Given the description of an element on the screen output the (x, y) to click on. 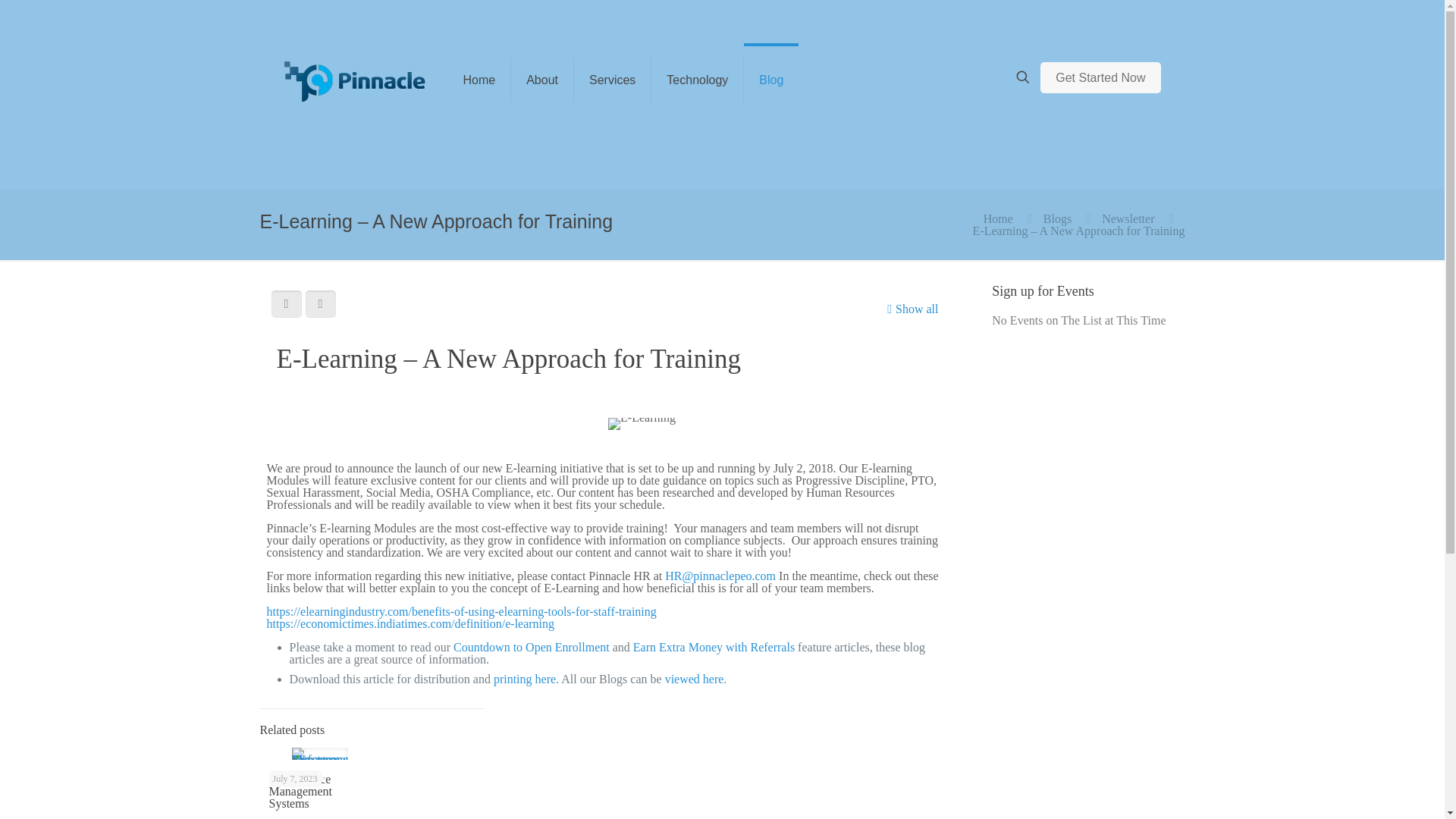
Get Started Now (1100, 77)
Blogs (1057, 218)
Home (478, 79)
Countdown to Open Enrollment (531, 646)
Newsletter (1128, 218)
Services (611, 79)
Show all (910, 308)
viewed here (694, 678)
printing here (524, 678)
Earn Extra Money with Referrals (713, 646)
